Given the description of an element on the screen output the (x, y) to click on. 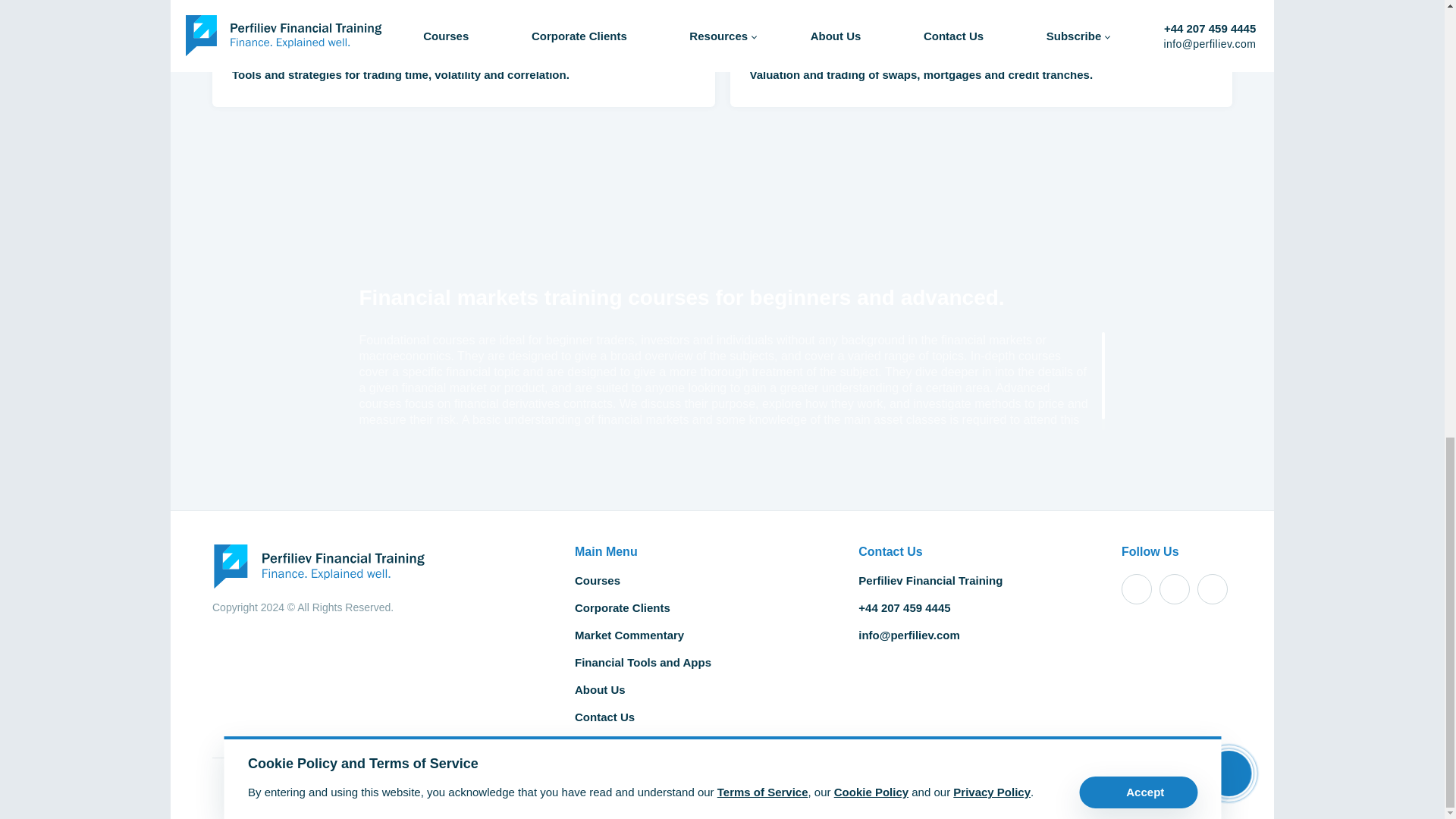
Page 3 (724, 387)
